Given the description of an element on the screen output the (x, y) to click on. 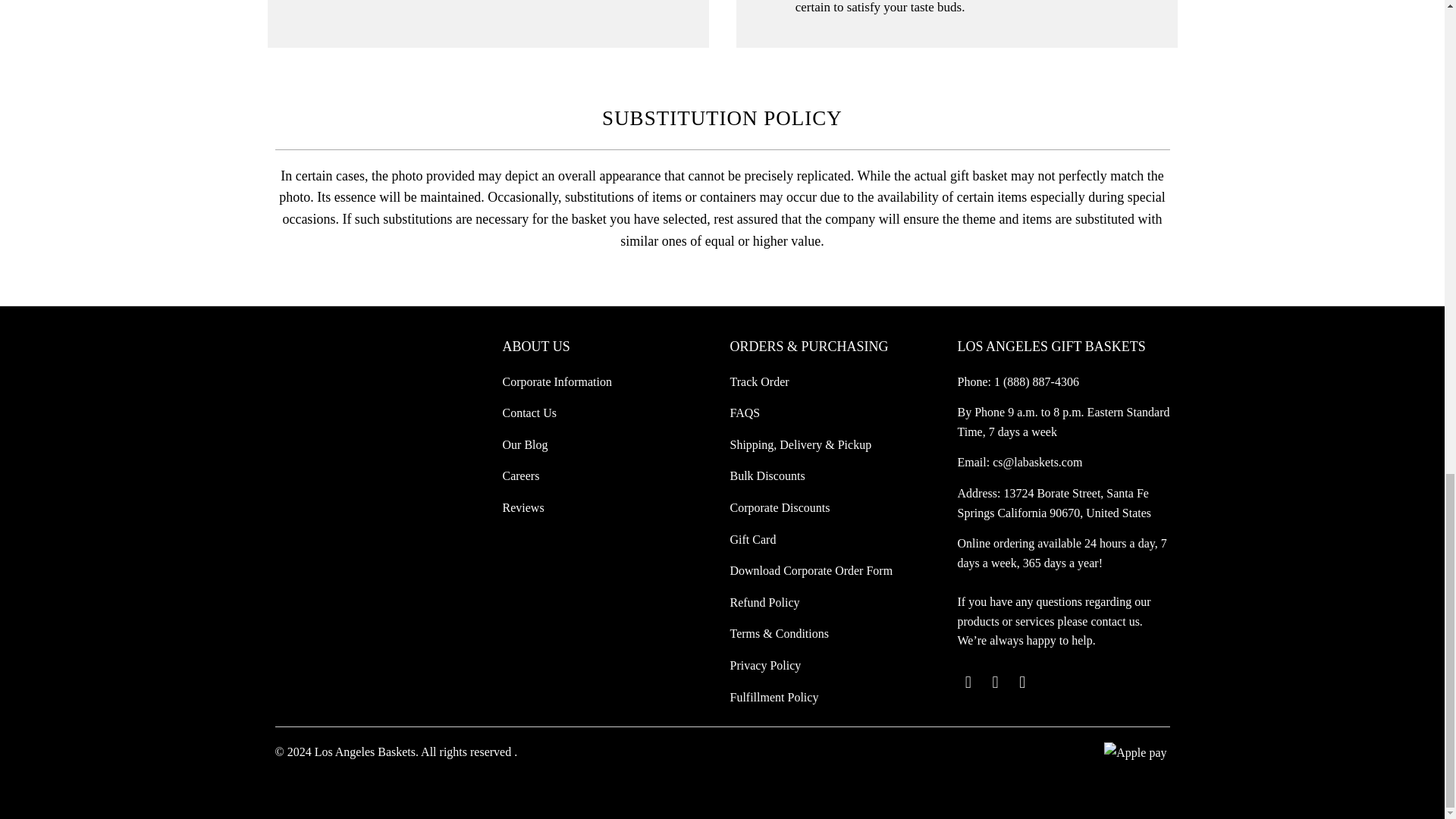
Los Angeles Baskets on Twitter (967, 682)
Los Angeles Baskets on Instagram (1022, 682)
Los Angeles Baskets on Facebook (995, 682)
